Given the description of an element on the screen output the (x, y) to click on. 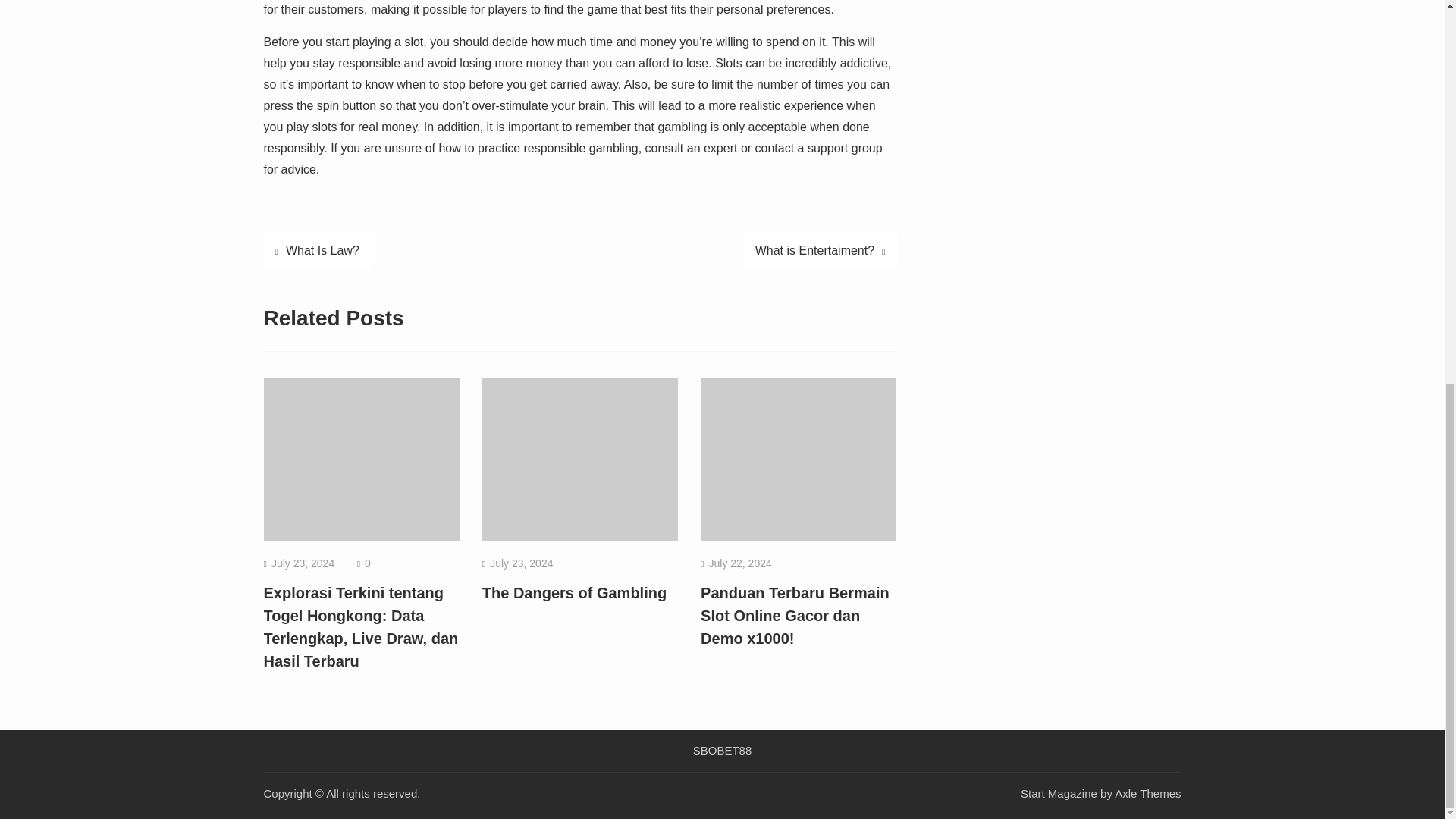
The Dangers of Gambling (573, 592)
0 (368, 563)
Axle Themes (1147, 793)
What is Entertaiment? (820, 250)
What Is Law? (317, 250)
Panduan Terbaru Bermain Slot Online Gacor dan Demo x1000! (794, 615)
SBOBET88 (722, 750)
